Given the description of an element on the screen output the (x, y) to click on. 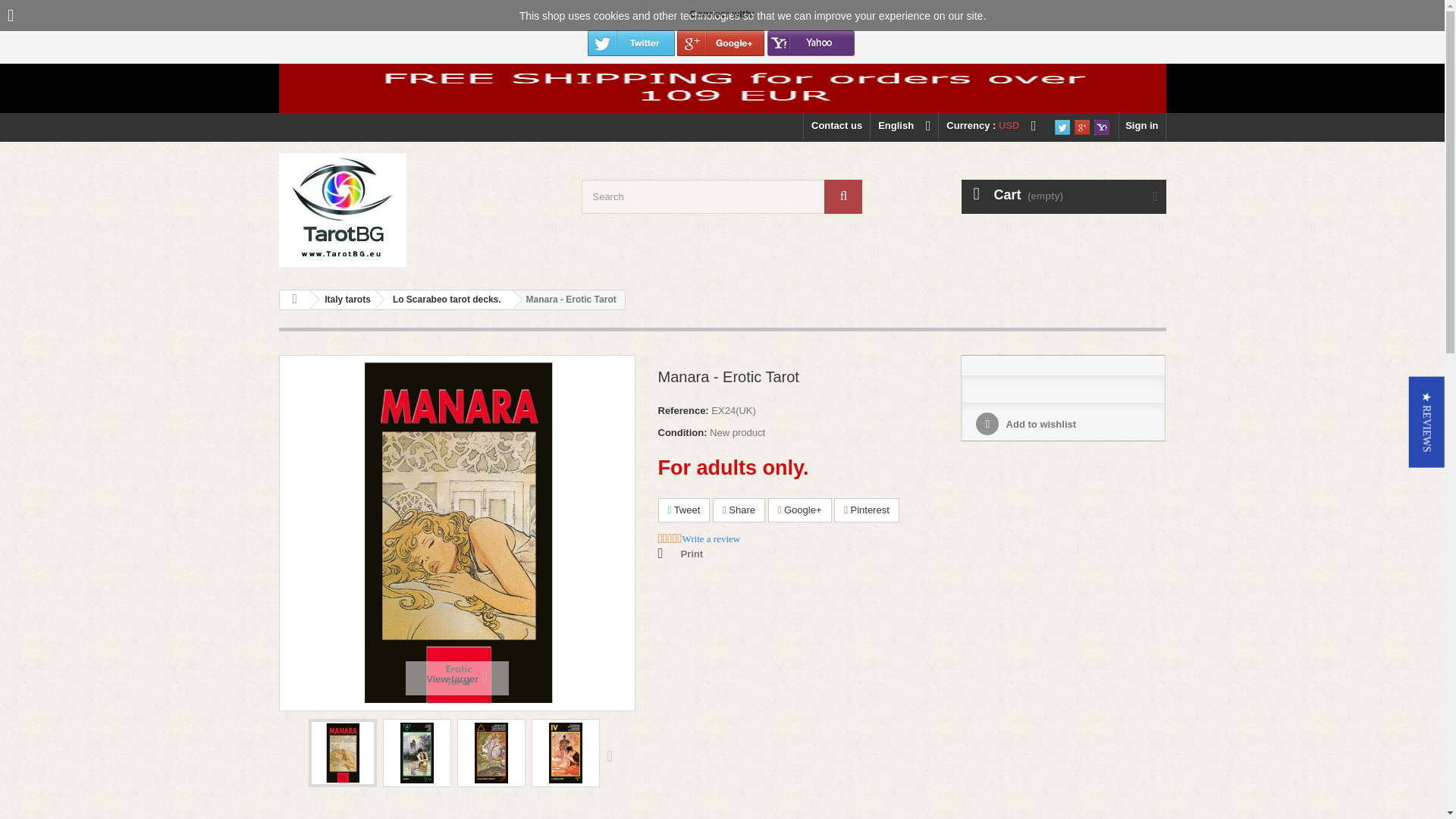
Lo Scarabeo tarot decks. (443, 299)
Contact us (836, 126)
Pinterest (866, 510)
Twitter (1061, 125)
Share (739, 510)
Twitter (631, 37)
View my shopping cart (1063, 196)
Free shipping for orders over 109 EUR (722, 88)
Contact us (836, 126)
Google (720, 37)
Next (612, 754)
Log in to your customer account (1141, 126)
Yahoo (810, 37)
Write a review (711, 539)
Google (1081, 125)
